Given the description of an element on the screen output the (x, y) to click on. 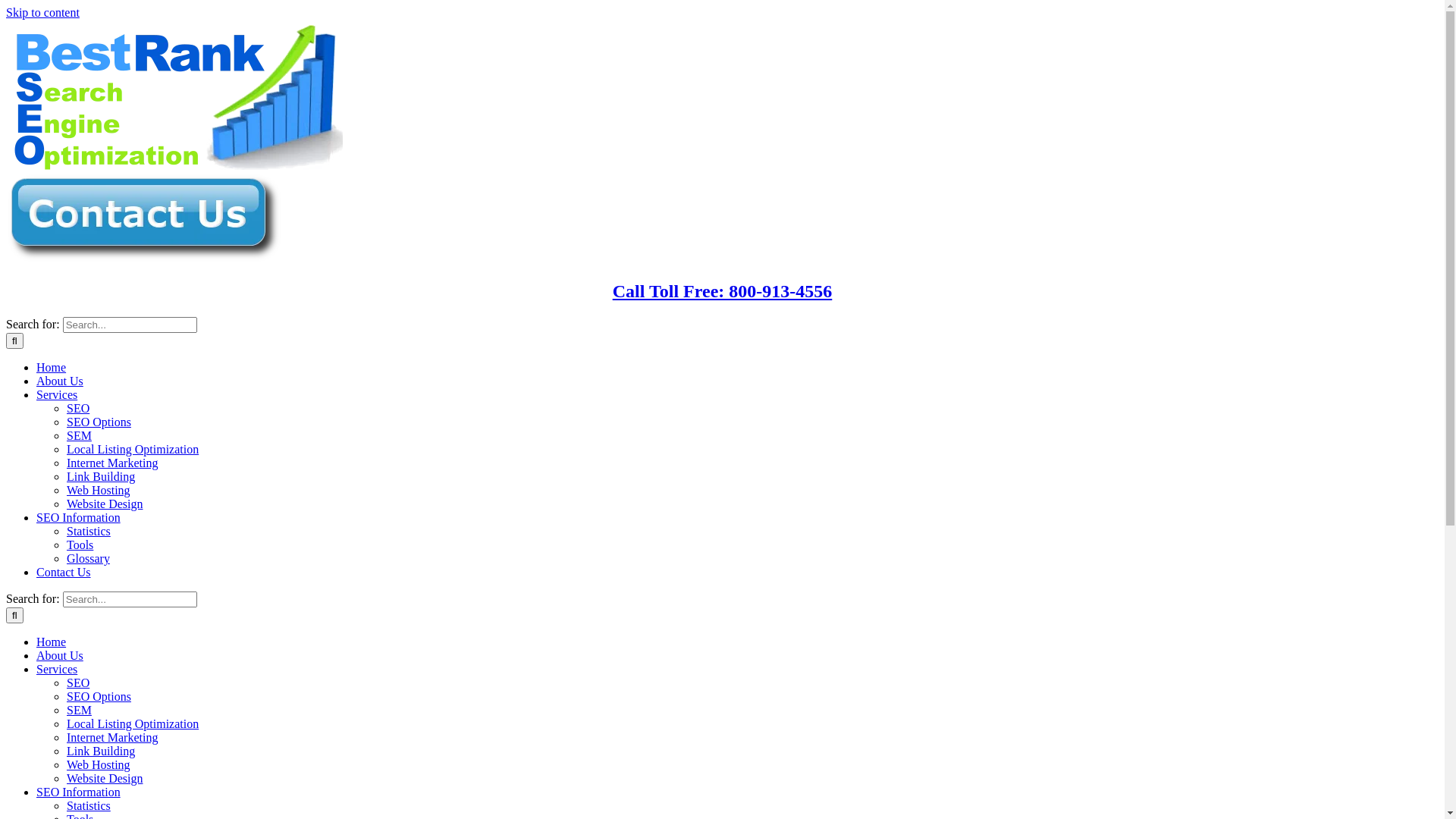
Website Design Element type: text (104, 777)
Link Building Element type: text (100, 750)
About Us Element type: text (59, 380)
SEO Information Element type: text (78, 791)
SEO Options Element type: text (98, 696)
Services Element type: text (56, 668)
Skip to content Element type: text (42, 12)
Statistics Element type: text (88, 805)
Home Element type: text (50, 641)
SEO Options Element type: text (98, 421)
Website Design Element type: text (104, 503)
SEM Element type: text (78, 435)
About Us Element type: text (59, 655)
Glossary Element type: text (87, 558)
Contact Us Element type: text (63, 571)
Statistics Element type: text (88, 530)
Internet Marketing Element type: text (111, 462)
SEM Element type: text (78, 709)
Tools Element type: text (79, 544)
Web Hosting Element type: text (98, 764)
SEO Element type: text (77, 407)
SEO Element type: text (77, 682)
Local Listing Optimization Element type: text (132, 723)
Call Toll Free: 800-913-4556 Element type: text (722, 291)
Internet Marketing Element type: text (111, 737)
Home Element type: text (50, 366)
SEO Information Element type: text (78, 517)
Web Hosting Element type: text (98, 489)
Services Element type: text (56, 394)
Link Building Element type: text (100, 476)
Local Listing Optimization Element type: text (132, 448)
